Given the description of an element on the screen output the (x, y) to click on. 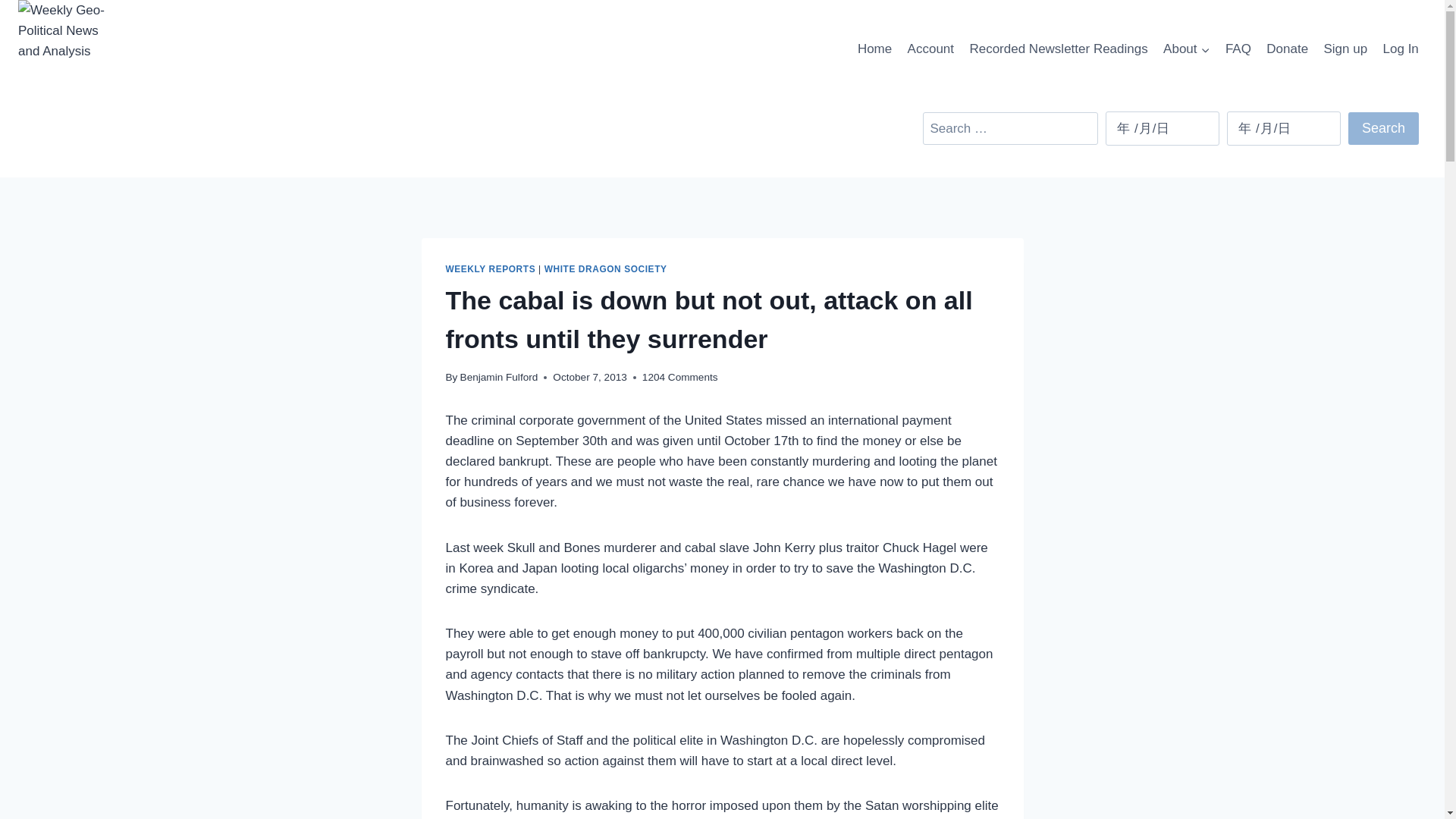
Donate (1287, 49)
Account (929, 49)
Home (874, 49)
1204 Comments (679, 377)
Benjamin Fulford (499, 377)
FAQ (1238, 49)
1204 Comments (679, 377)
Sign up (1345, 49)
Log In (1400, 49)
About (1186, 49)
